Given the description of an element on the screen output the (x, y) to click on. 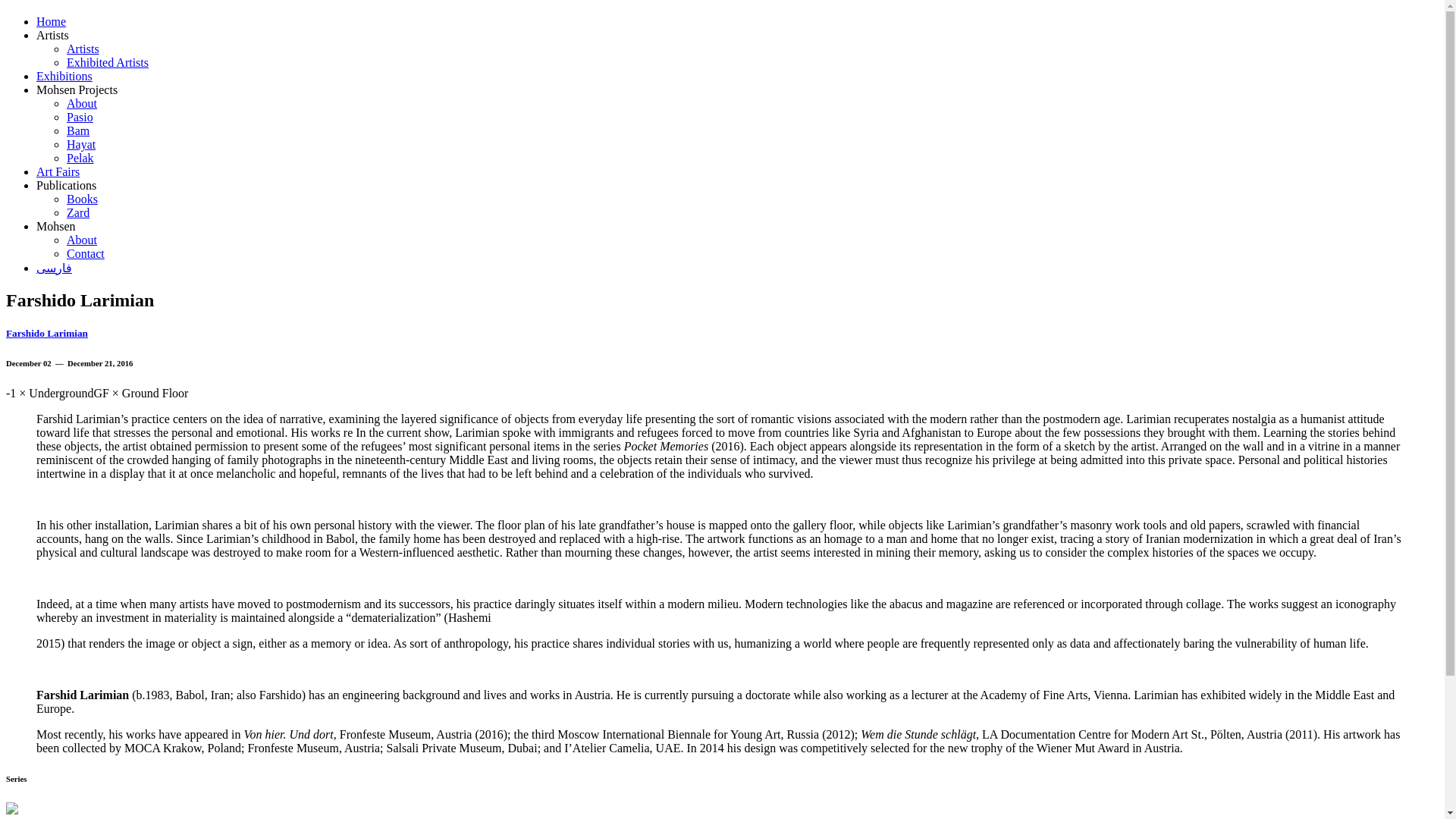
Artists (52, 34)
Exhibited Artists (107, 62)
Books (81, 198)
Pasio (79, 116)
Mohsen (55, 226)
Mohsen Projects (76, 89)
Zard (77, 212)
Exhibitions (64, 75)
Home (50, 21)
Publications (66, 185)
